Given the description of an element on the screen output the (x, y) to click on. 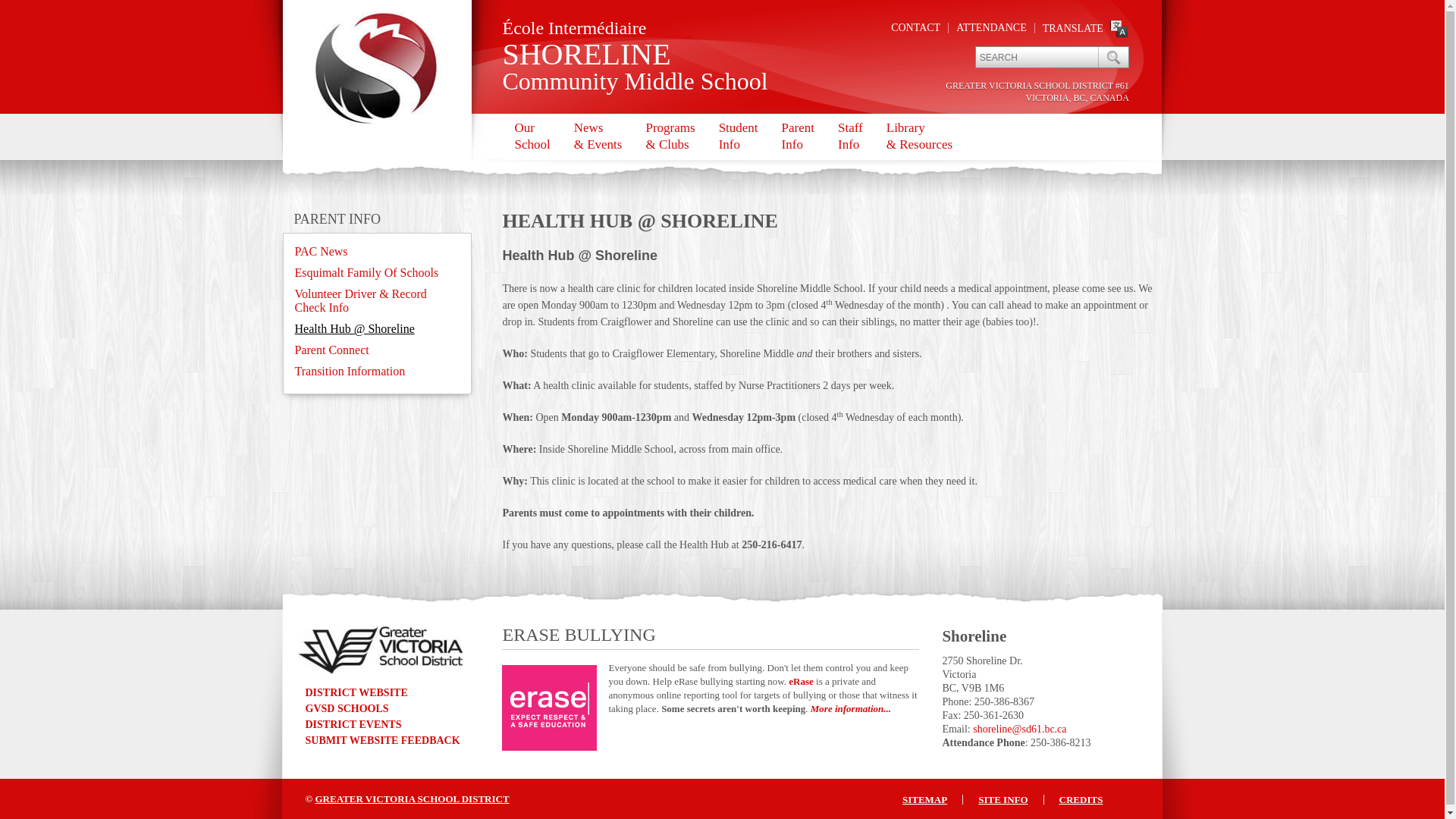
Library
& Resources Element type: text (918, 136)
Transition Information Element type: text (349, 370)
Health Hub @ Shoreline Element type: text (354, 328)
DISTRICT WEBSITE Element type: text (355, 692)
SITE INFO Element type: text (1002, 799)
PAC News Element type: text (320, 250)
PARENT INFO Element type: text (337, 218)
eRase Element type: text (800, 681)
Programs
& Clubs Element type: text (669, 136)
Parent Connect Element type: text (331, 349)
GVSD SCHOOLS Element type: text (346, 708)
More information... Element type: text (850, 708)
shoreline@sd61.bc.ca Element type: text (1019, 728)
Volunteer Driver & Record Check Info Element type: text (360, 300)
Staff
Info Element type: text (849, 136)
CONTACT Element type: text (915, 27)
DISTRICT EVENTS Element type: text (352, 724)
CREDITS Element type: text (1081, 799)
GREATER VICTORIA SCHOOL DISTRICT Element type: text (411, 798)
Esquimalt Family Of Schools Element type: text (366, 272)
ATTENDANCE Element type: text (991, 27)
News
& Events Element type: text (597, 136)
SITEMAP Element type: text (924, 799)
  Element type: text (1112, 57)
SUBMIT WEBSITE FEEDBACK Element type: text (381, 740)
Our
School Element type: text (531, 136)
Parent
Info Element type: text (797, 136)
Student
Info Element type: text (737, 136)
